Given the description of an element on the screen output the (x, y) to click on. 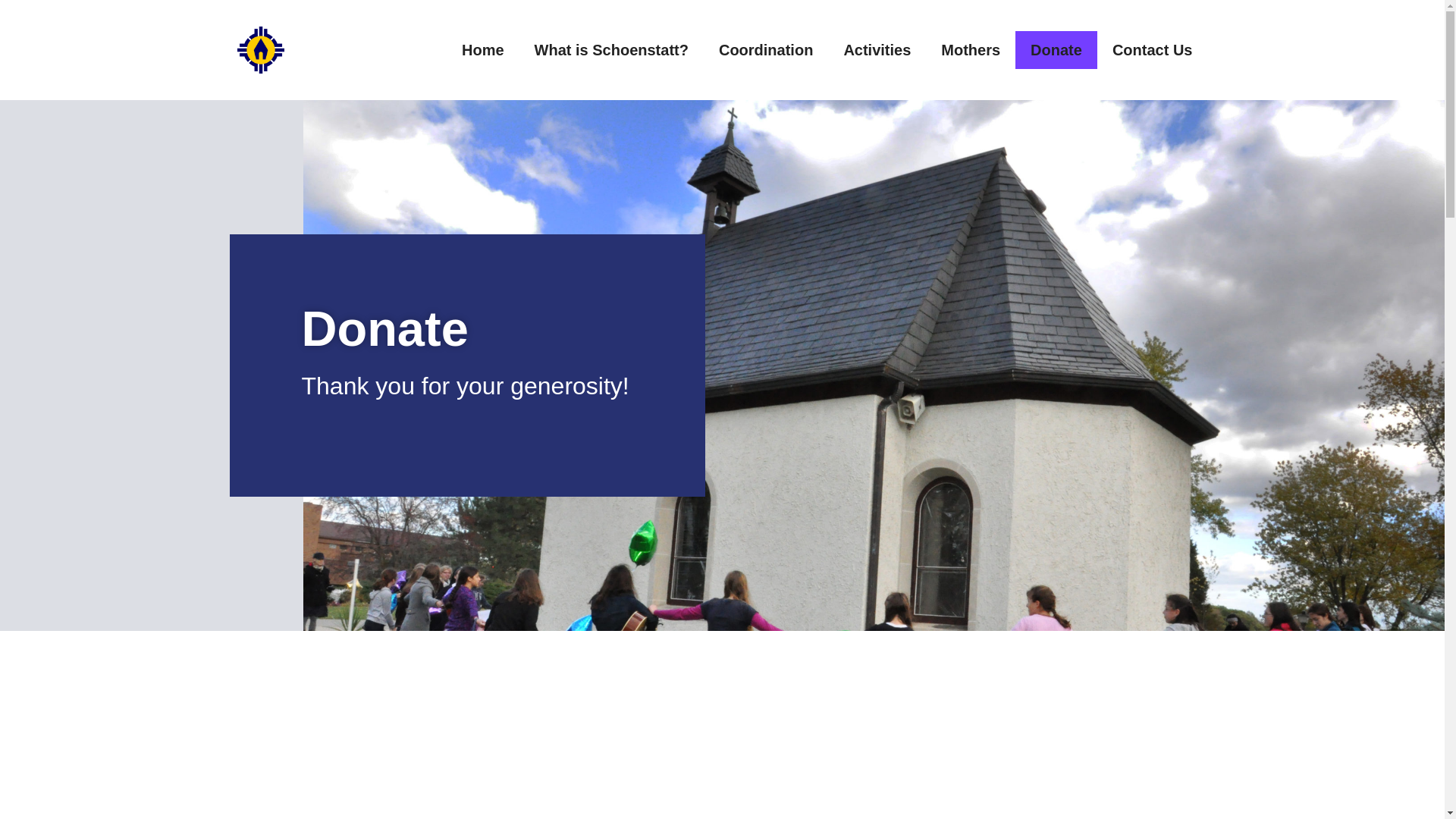
Donate (1055, 49)
Activities (877, 49)
Mothers (970, 49)
Home (482, 49)
Contact Us (1152, 49)
What is Schoenstatt? (611, 49)
Coordination (765, 49)
